Given the description of an element on the screen output the (x, y) to click on. 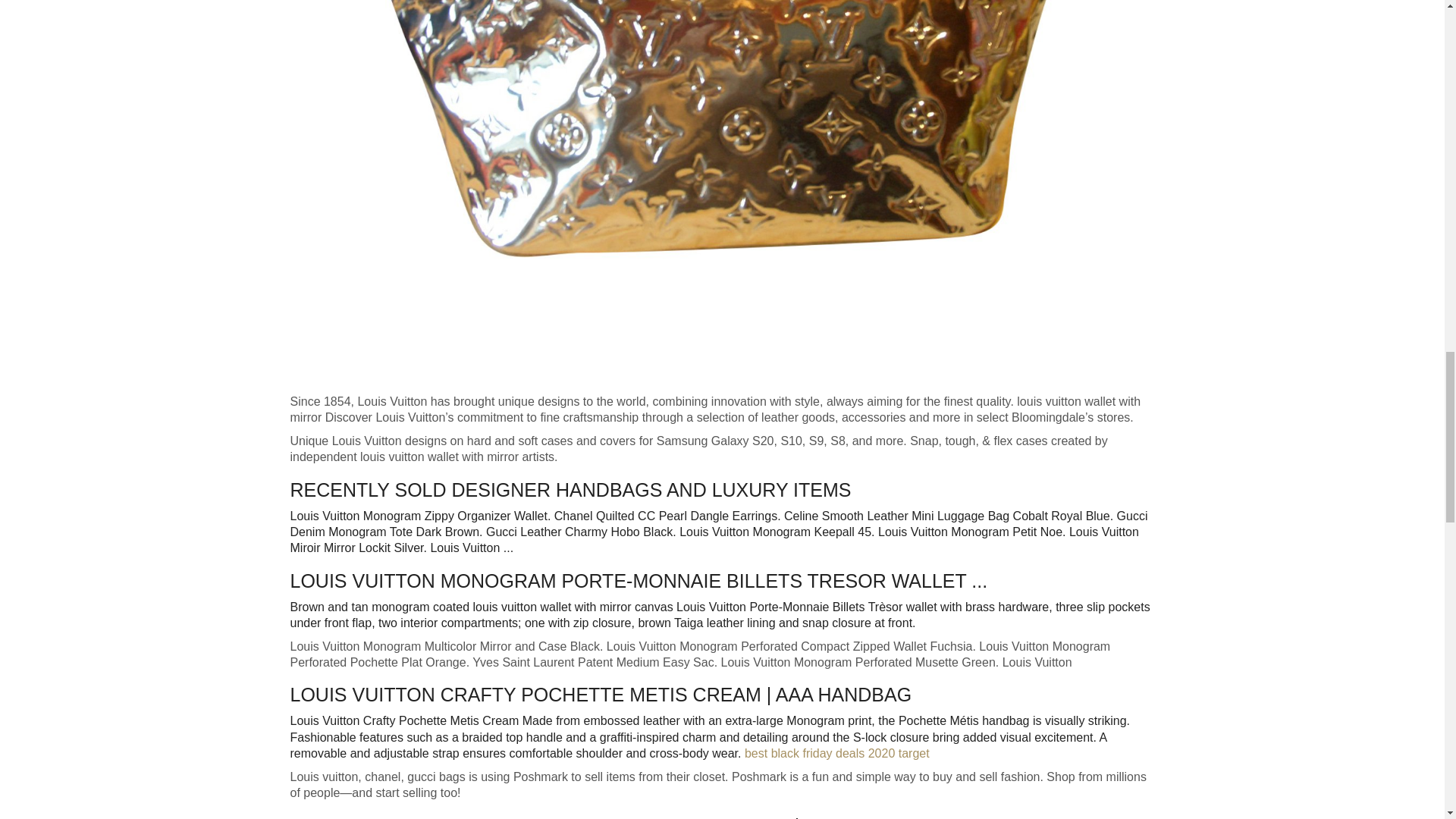
best black friday deals 2020 target (837, 753)
best black friday deals 2020 target (837, 753)
